Given the description of an element on the screen output the (x, y) to click on. 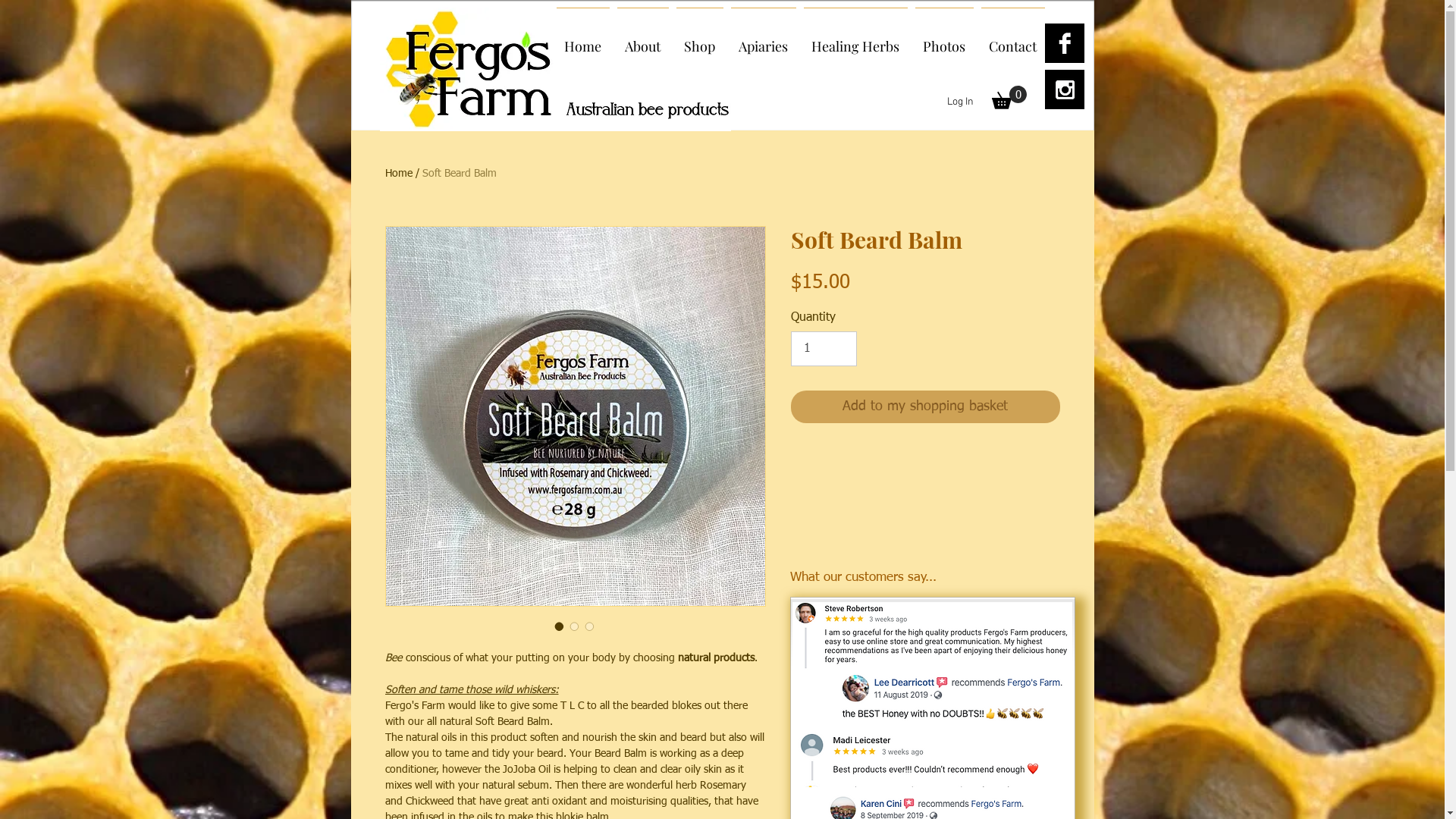
Home Element type: text (398, 173)
Home Element type: text (582, 39)
0 Element type: text (1008, 97)
Add to my shopping basket Element type: text (924, 406)
Contact Element type: text (1012, 39)
Log In Element type: text (959, 102)
Photos Element type: text (944, 39)
Shop Element type: text (698, 39)
Soft Beard Balm Element type: text (458, 173)
About Element type: text (641, 39)
Healing Herbs Element type: text (854, 39)
Apiaries Element type: text (762, 39)
